Given the description of an element on the screen output the (x, y) to click on. 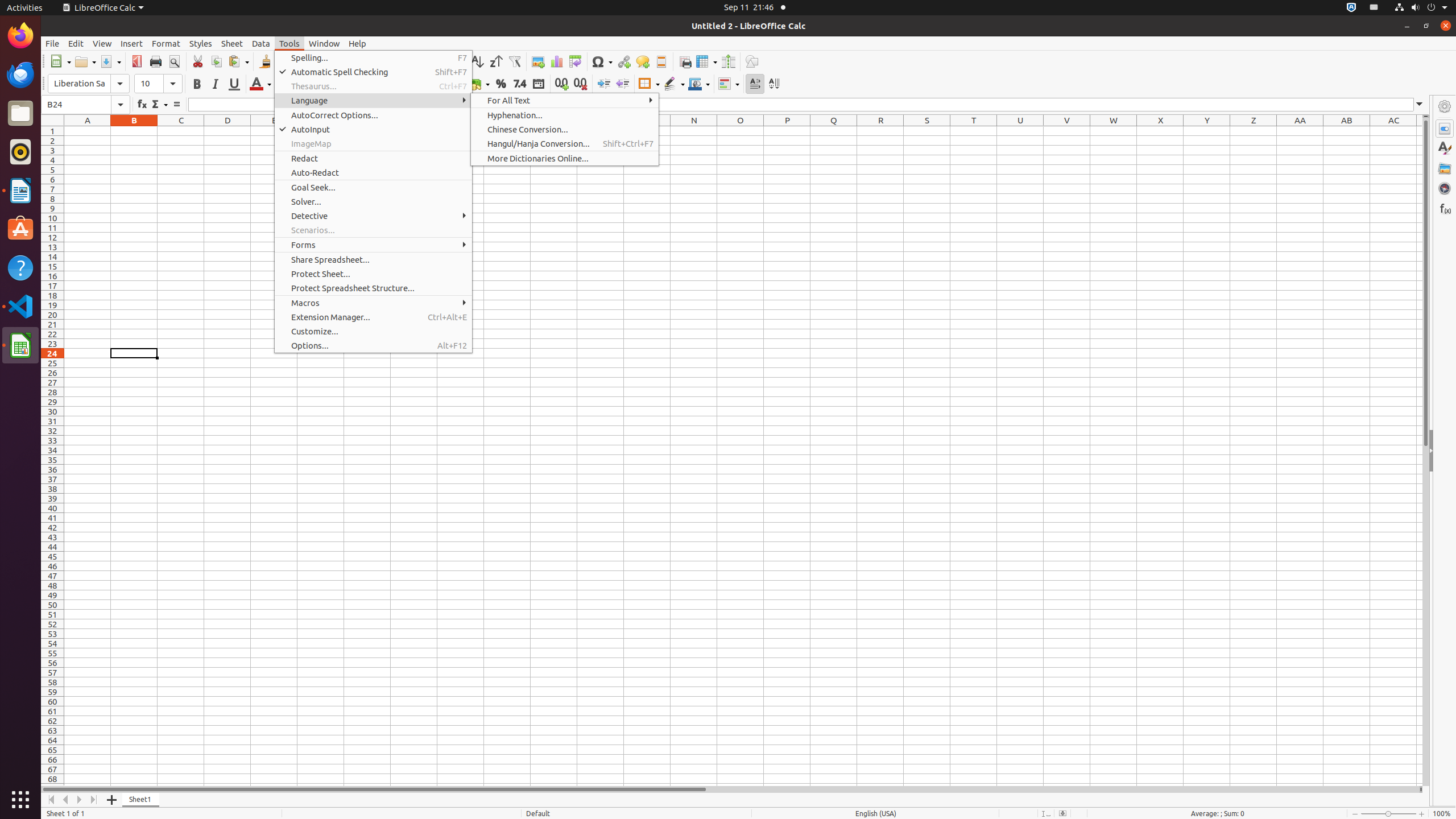
Hyperlink Element type: toggle-button (623, 61)
Draw Functions Element type: toggle-button (751, 61)
Function Wizard Element type: push-button (141, 104)
Symbol Element type: push-button (601, 61)
